Given the description of an element on the screen output the (x, y) to click on. 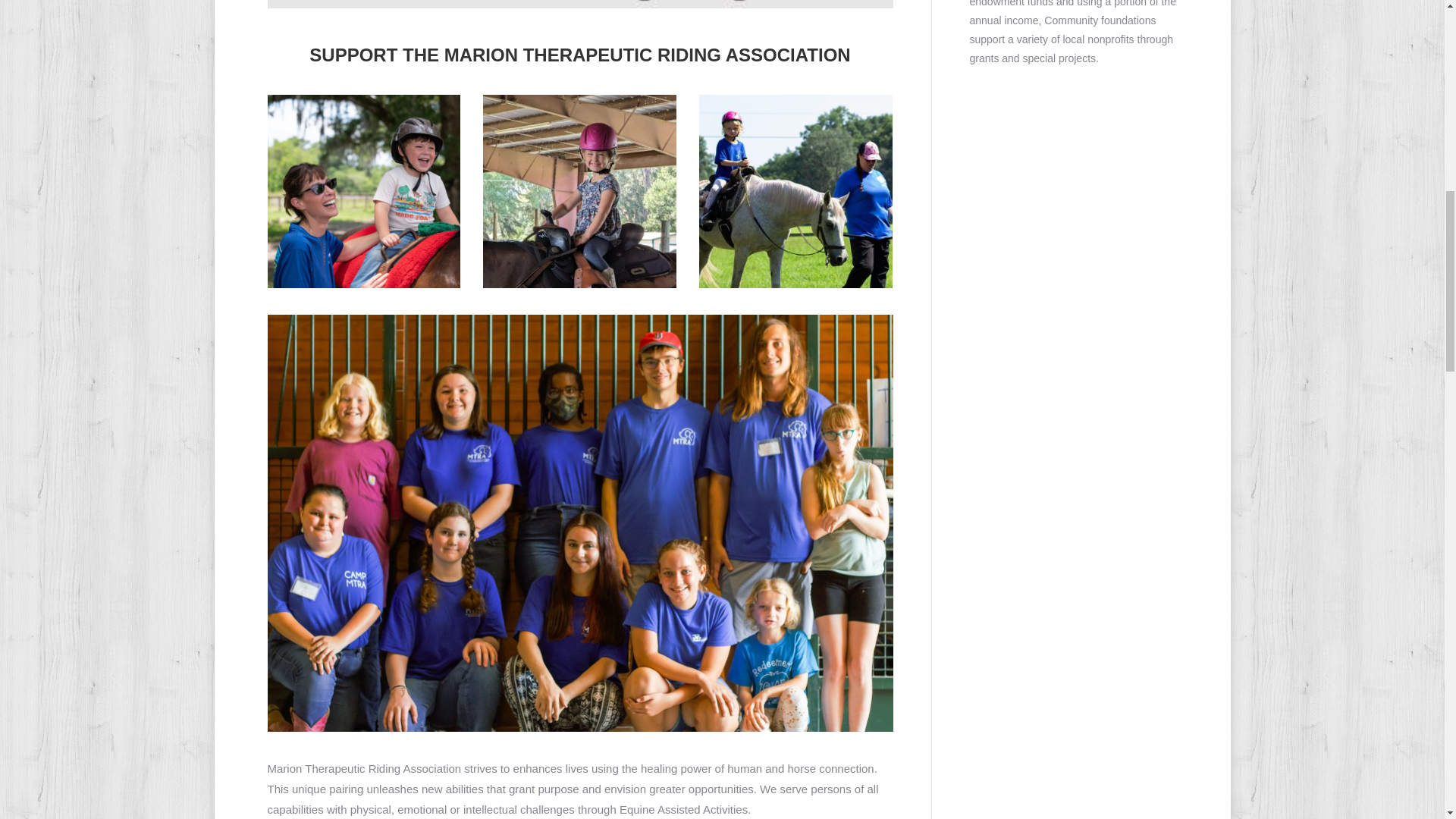
148975 (580, 191)
Hippotherapy pic with Jan (363, 191)
